Given the description of an element on the screen output the (x, y) to click on. 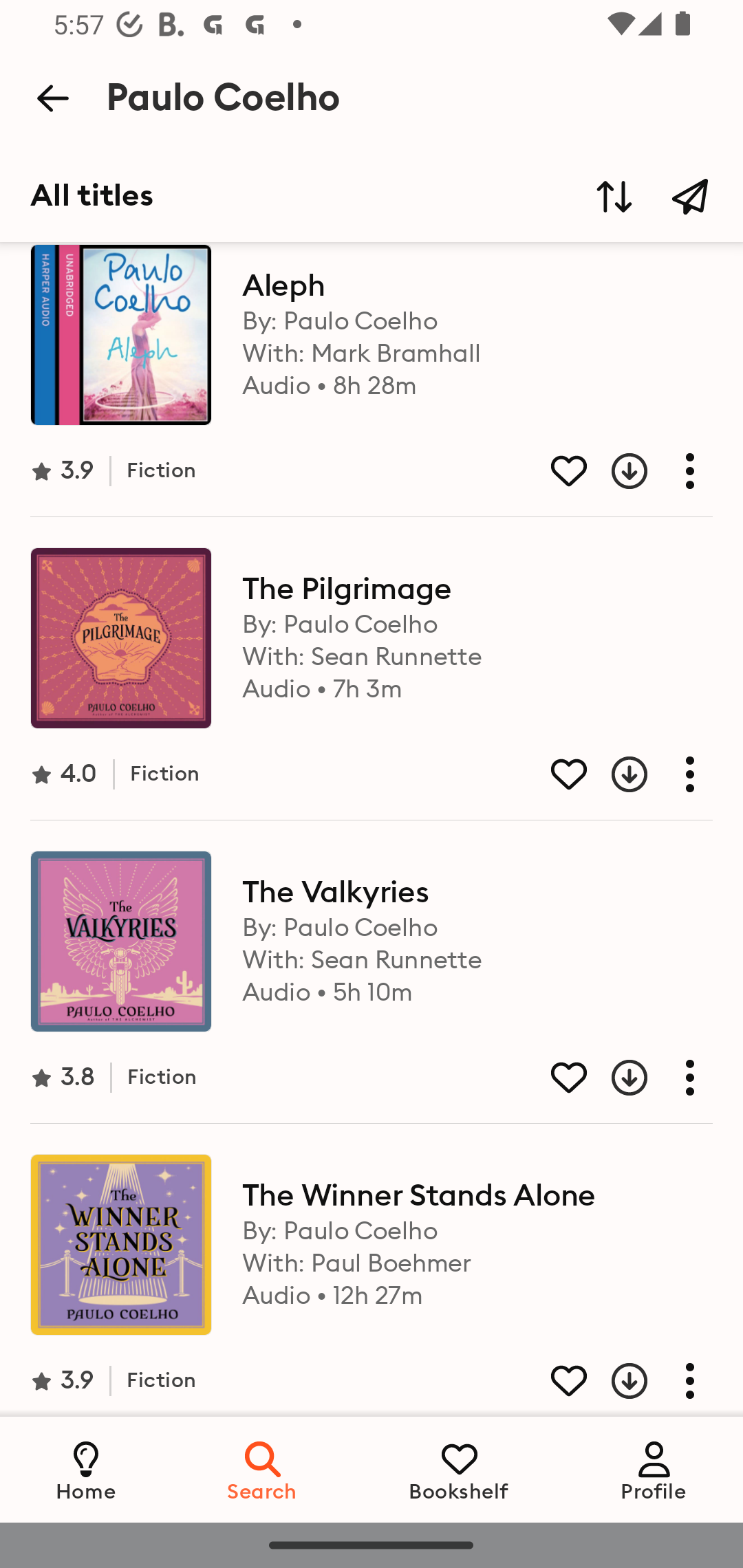
Back (52, 98)
Download (613, 469)
Download (613, 774)
Download (613, 1076)
Download (613, 1376)
Home (85, 1468)
Search (262, 1468)
Bookshelf (458, 1468)
Profile (653, 1468)
